Given the description of an element on the screen output the (x, y) to click on. 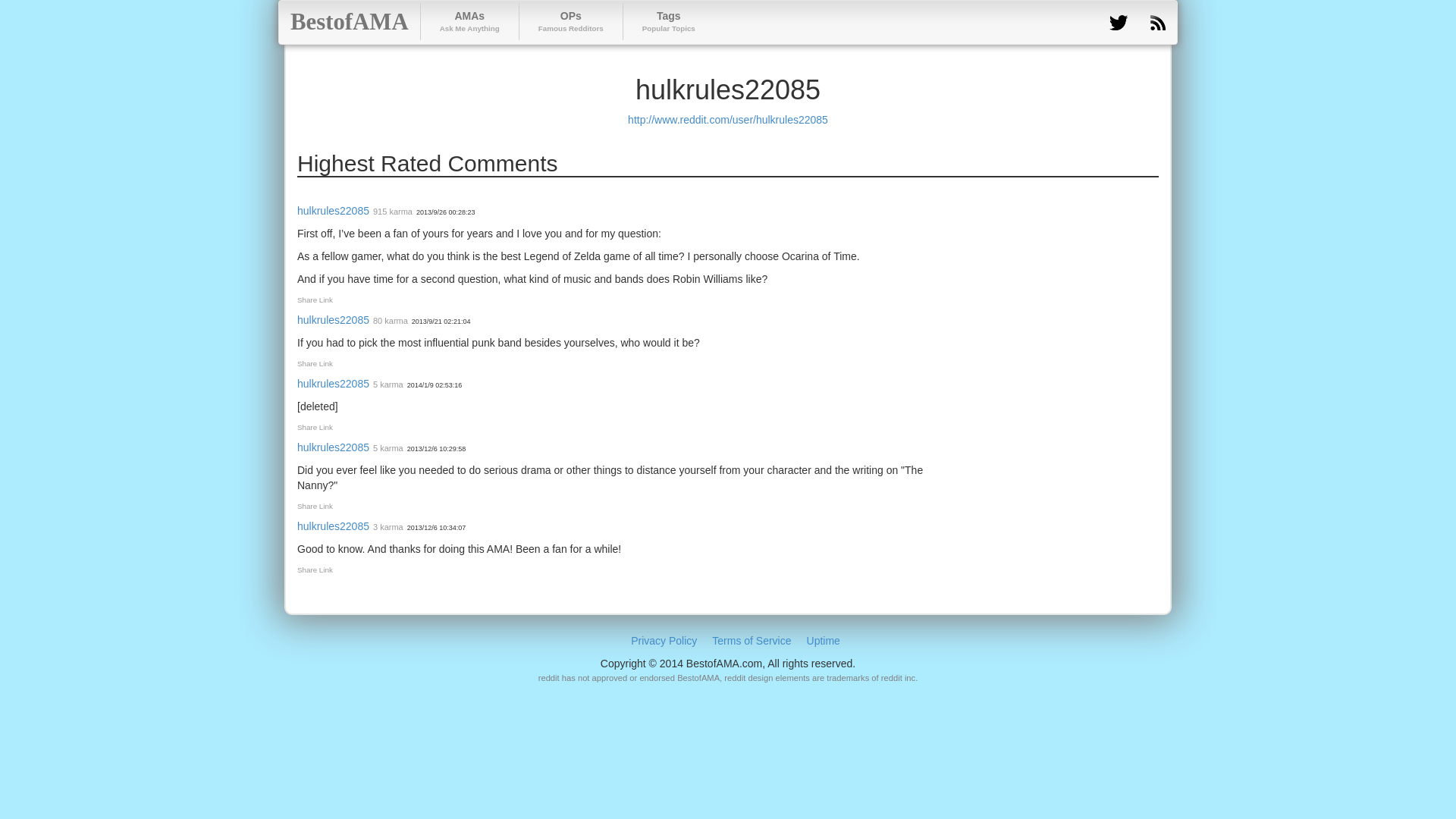
Share Link (315, 569)
hulkrules22085 (333, 526)
Terms of Service (469, 21)
Share Link (750, 640)
Share Link (315, 427)
Share Link (315, 506)
hulkrules22085 (315, 363)
